Given the description of an element on the screen output the (x, y) to click on. 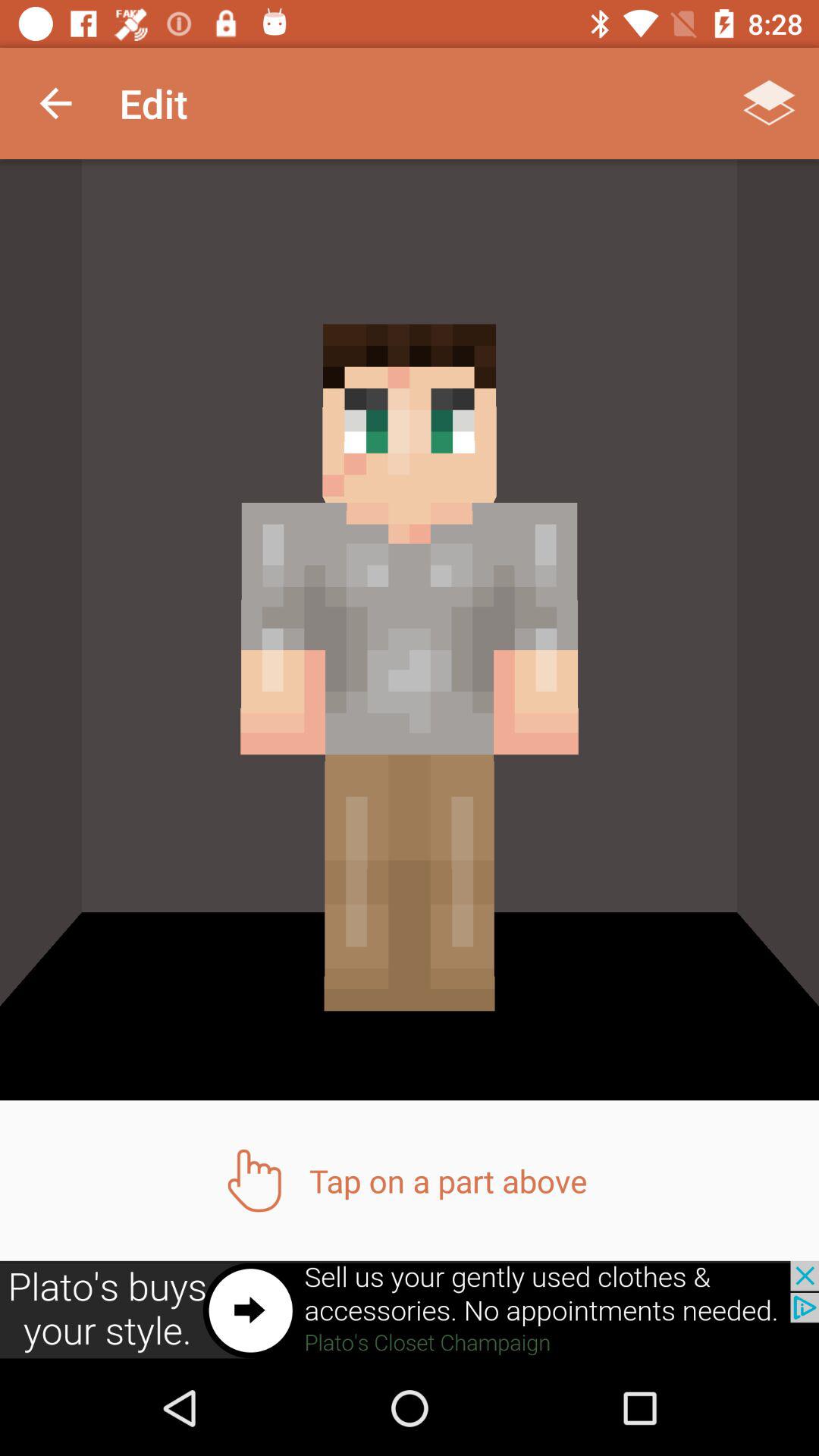
advertisement (409, 1310)
